Given the description of an element on the screen output the (x, y) to click on. 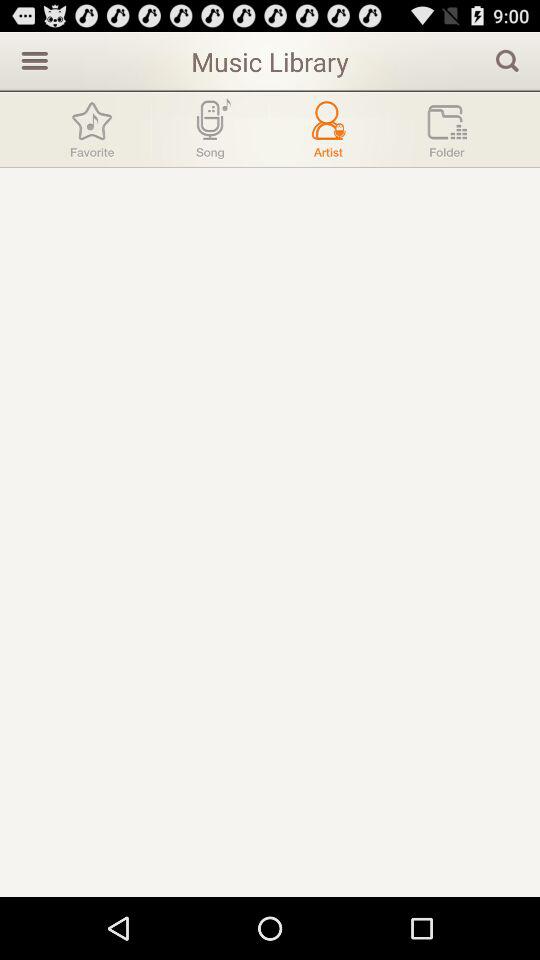
click item below the music library item (328, 129)
